Given the description of an element on the screen output the (x, y) to click on. 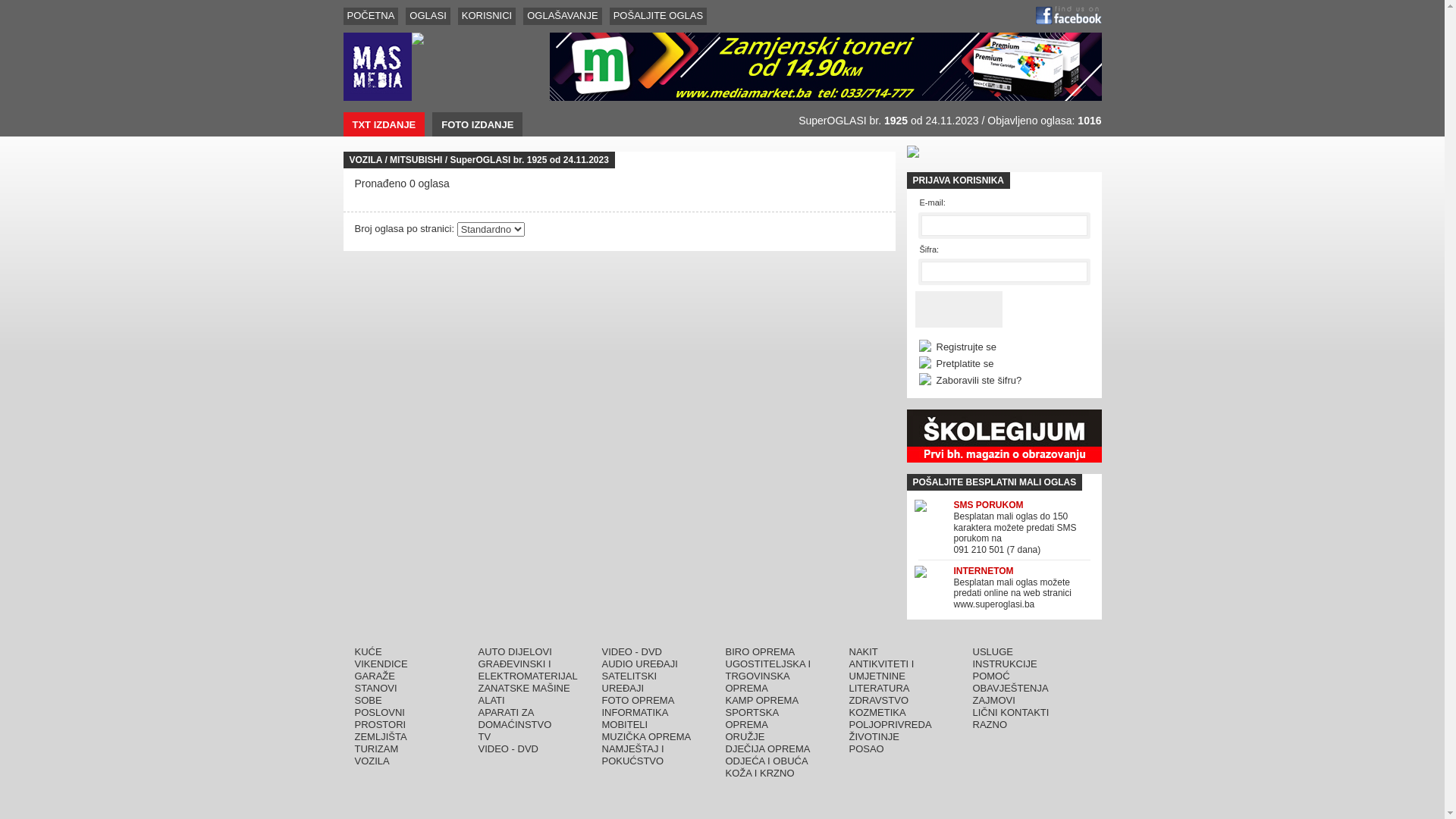
ANTIKVITETI I UMJETNINE Element type: text (881, 669)
ZAJMOVI Element type: text (993, 700)
POSAO Element type: text (866, 748)
SOBE Element type: text (368, 700)
prijavi_me Element type: text (957, 309)
VIDEO - DVD Element type: text (507, 748)
OGLASI Element type: text (427, 16)
POLJOPRIVREDA Element type: text (890, 724)
KAMP OPREMA Element type: text (761, 700)
ZDRAVSTVO Element type: text (879, 700)
BIRO OPREMA Element type: text (759, 651)
USLUGE Element type: text (992, 651)
TURIZAM Element type: text (376, 748)
MOBITELI Element type: text (625, 724)
KOZMETIKA Element type: text (877, 712)
INSTRUKCIJE Element type: text (1004, 663)
TXT IZDANJE Element type: text (383, 124)
NAKIT Element type: text (863, 651)
FOTO IZDANJE Element type: text (477, 124)
Pretplatite se Element type: text (964, 363)
LITERATURA Element type: text (879, 687)
KORISNICI Element type: text (486, 16)
3rd party ad content Element type: hover (825, 66)
TV Element type: text (483, 736)
VIKENDICE Element type: text (380, 663)
SPORTSKA OPREMA Element type: text (751, 718)
UGOSTITELJSKA I TRGOVINSKA OPREMA Element type: text (767, 675)
FOTO OPREMA Element type: text (638, 700)
Registrujte se Element type: text (965, 346)
POSLOVNI PROSTORI Element type: text (380, 718)
VIDEO - DVD Element type: text (632, 651)
STANOVI Element type: text (375, 687)
INFORMATIKA Element type: text (635, 712)
VOZILA Element type: text (371, 760)
ALATI Element type: text (490, 700)
AUTO DIJELOVI Element type: text (514, 651)
RAZNO Element type: text (989, 724)
3rd party ad content Element type: hover (1003, 435)
